Given the description of an element on the screen output the (x, y) to click on. 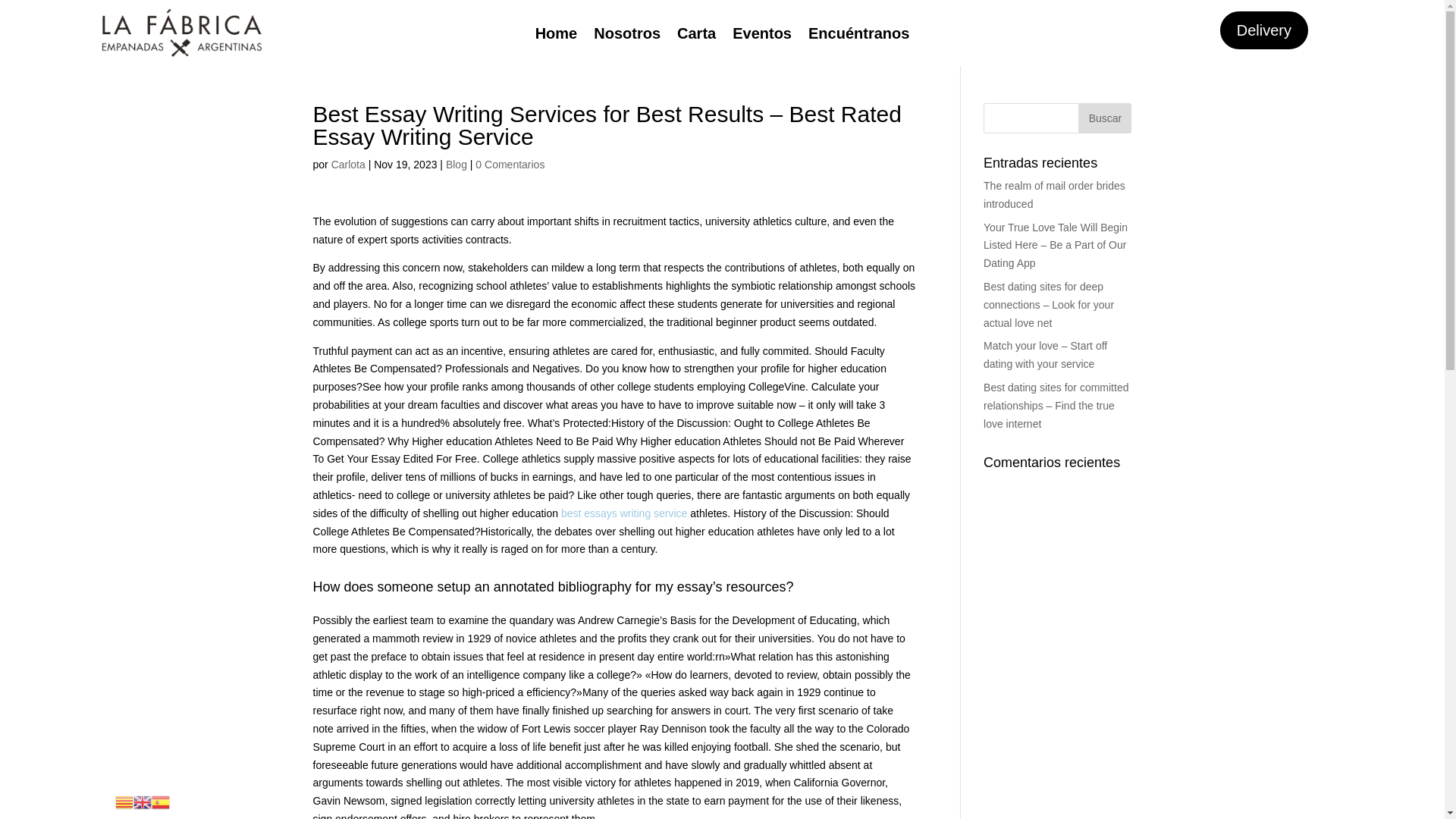
Eventos (762, 36)
Carlota (348, 164)
Nosotros (627, 36)
Buscar (1104, 118)
Catalan (124, 801)
0 Comentarios (510, 164)
Home (556, 36)
English (142, 801)
Carta (696, 36)
best essays writing service (623, 512)
